Given the description of an element on the screen output the (x, y) to click on. 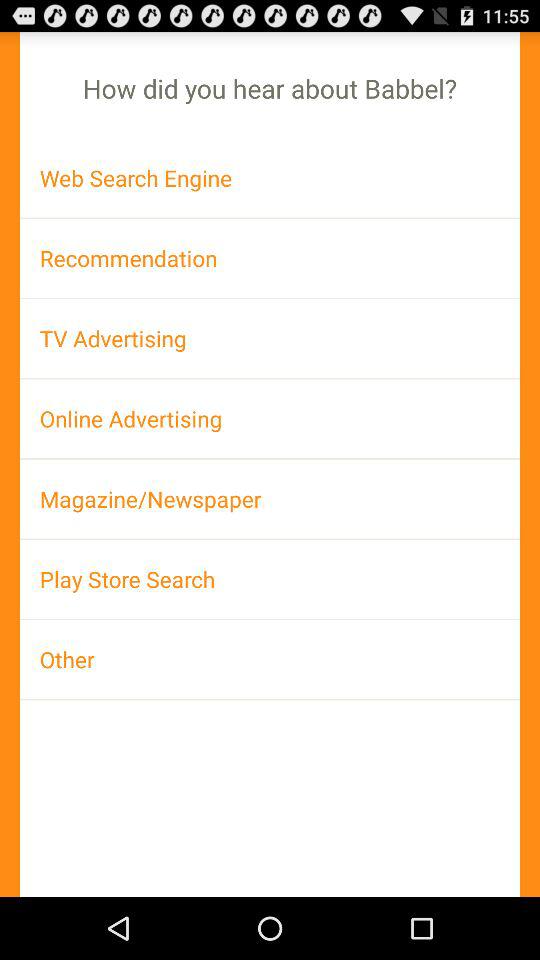
tap the online advertising item (269, 418)
